Given the description of an element on the screen output the (x, y) to click on. 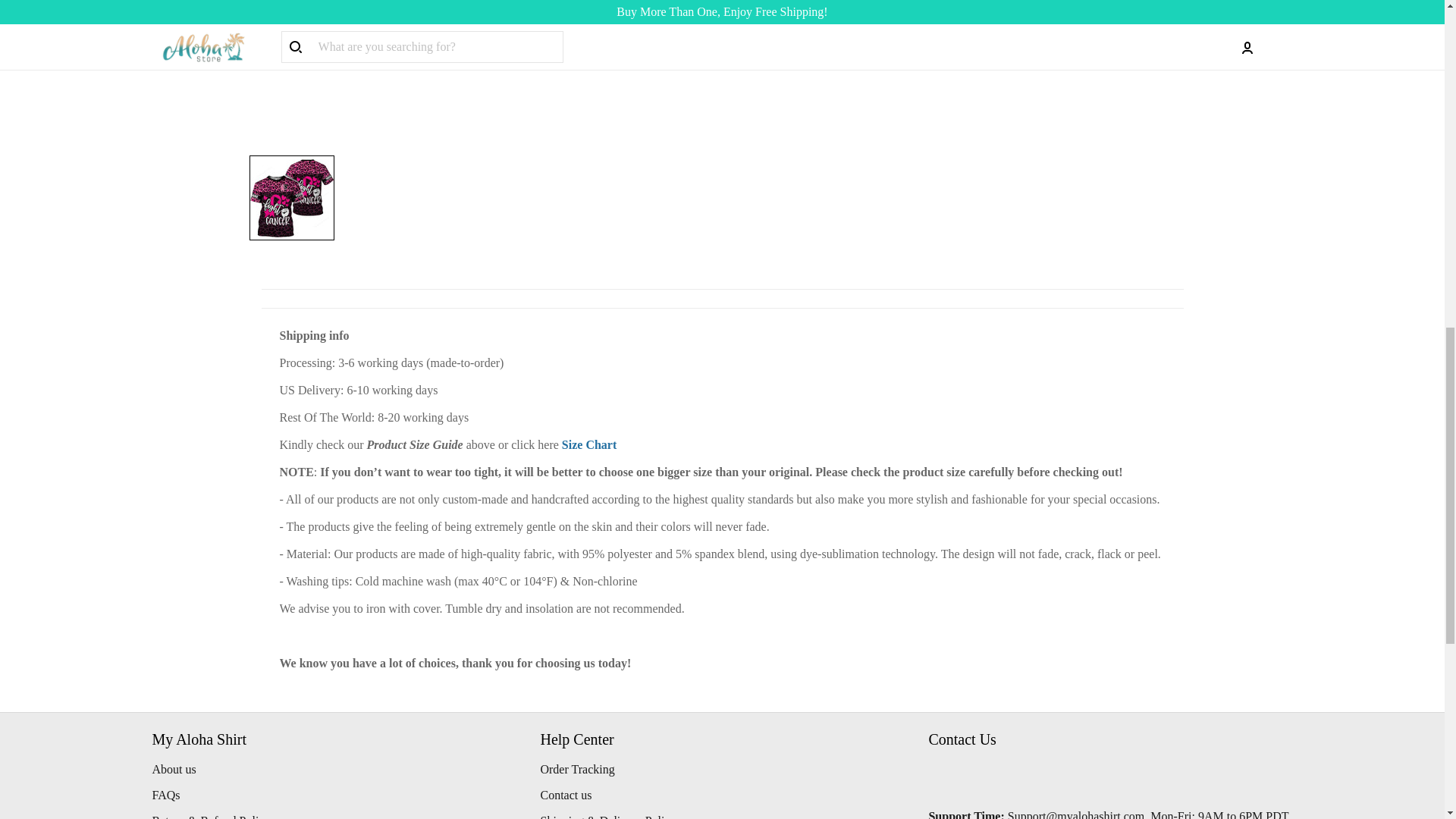
Contact us (565, 794)
About us (173, 768)
Order Tracking (577, 768)
FAQs (165, 794)
Size Chart (588, 444)
